Given the description of an element on the screen output the (x, y) to click on. 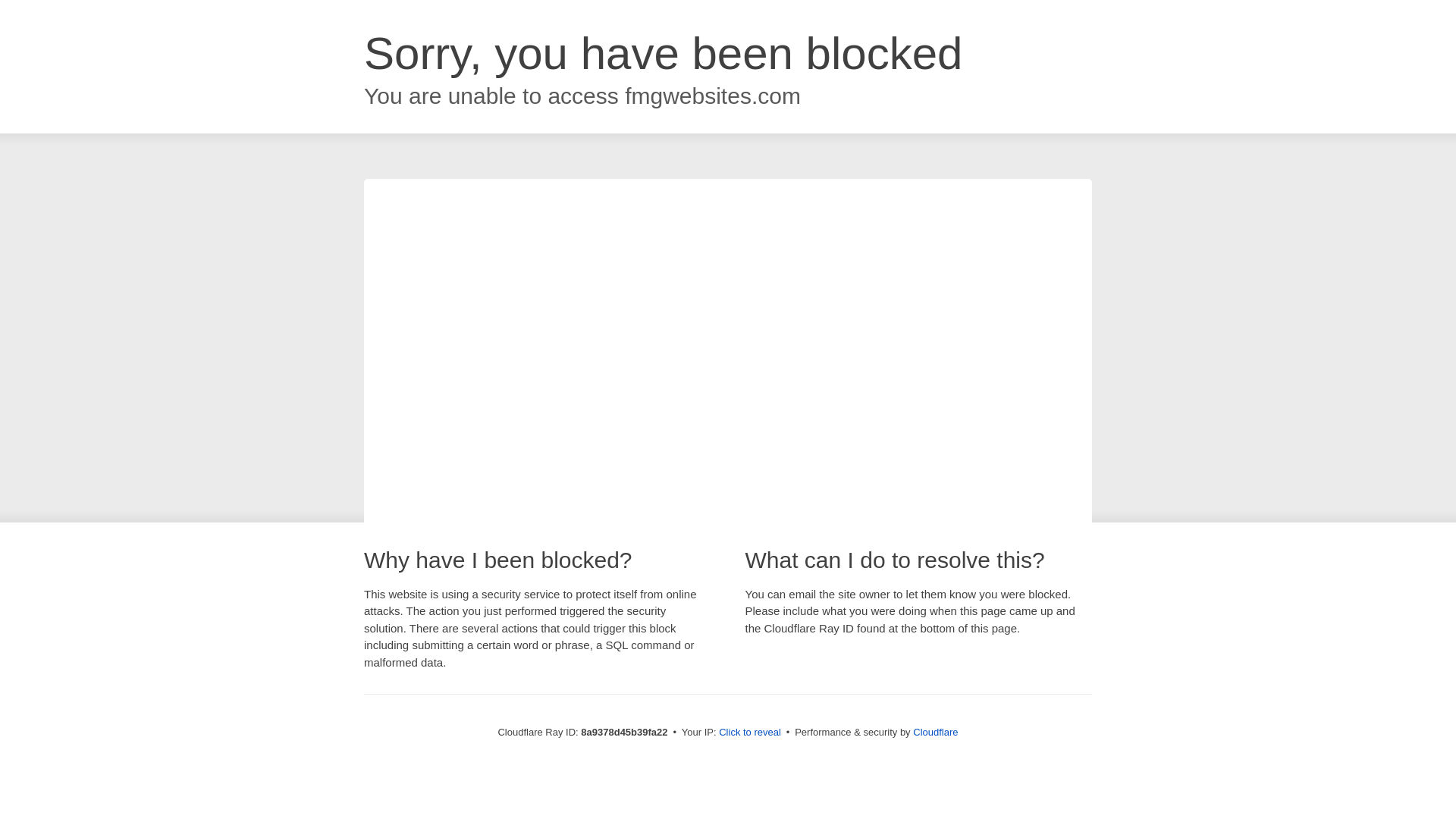
Click to reveal (749, 732)
Cloudflare (935, 731)
